Given the description of an element on the screen output the (x, y) to click on. 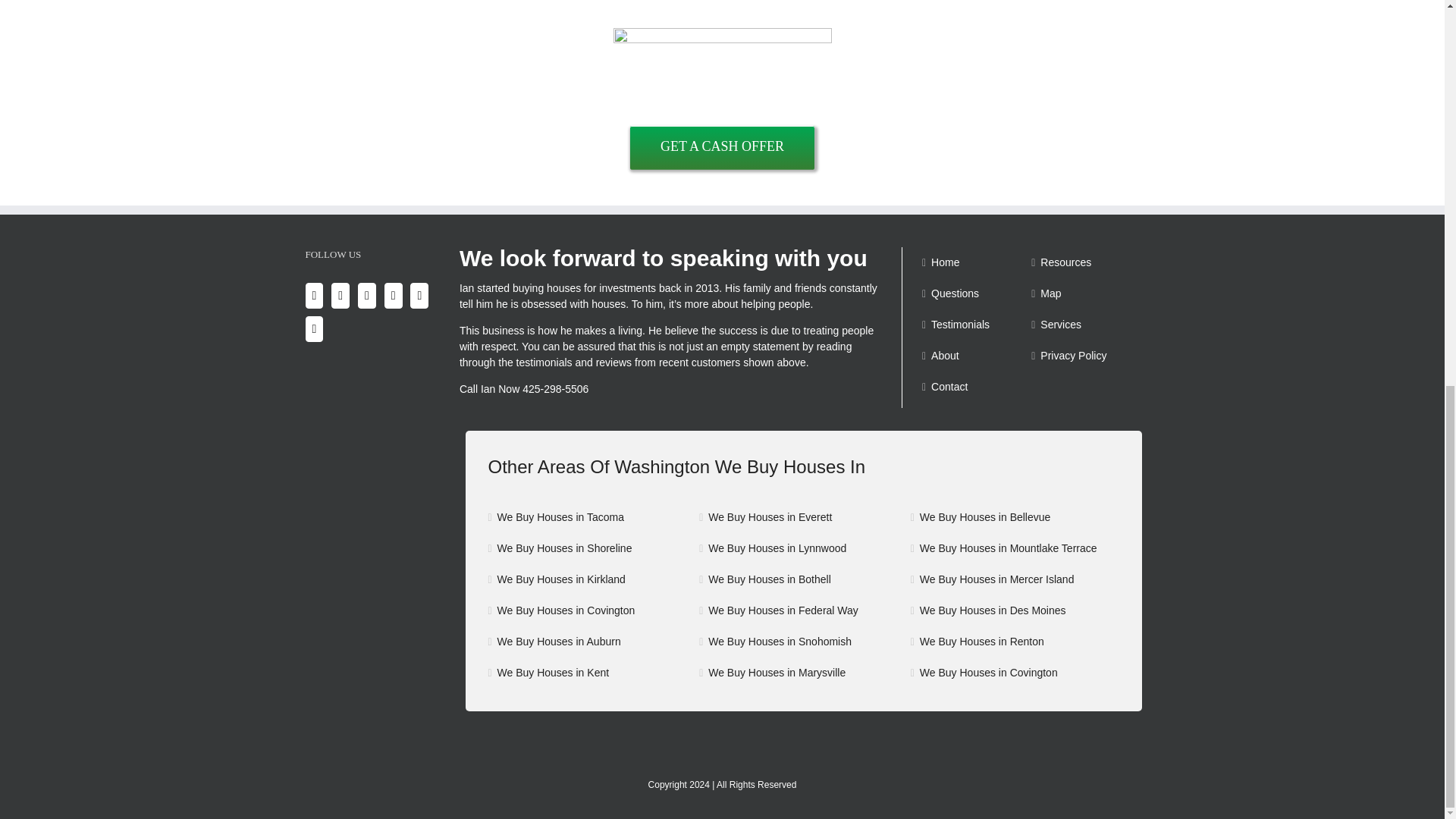
We Buy Houses in Covington (592, 610)
GET A CASH OFFER (721, 146)
Services (1085, 324)
We Buy Houses in Mercer Island (1016, 579)
About (975, 355)
Contact (975, 386)
We Buy Houses in Kirkland (592, 579)
We Buy Houses in Snohomish (803, 641)
Get A Fair CASH Offer (721, 146)
We Buy Houses in Renton (1016, 641)
We Buy Houses in Des Moines (1016, 610)
We Buy Houses in Tacoma (592, 517)
We Buy Houses in Bellevue (1016, 517)
Home (975, 262)
We Buy Houses in Mountlake Terrace (1016, 548)
